Given the description of an element on the screen output the (x, y) to click on. 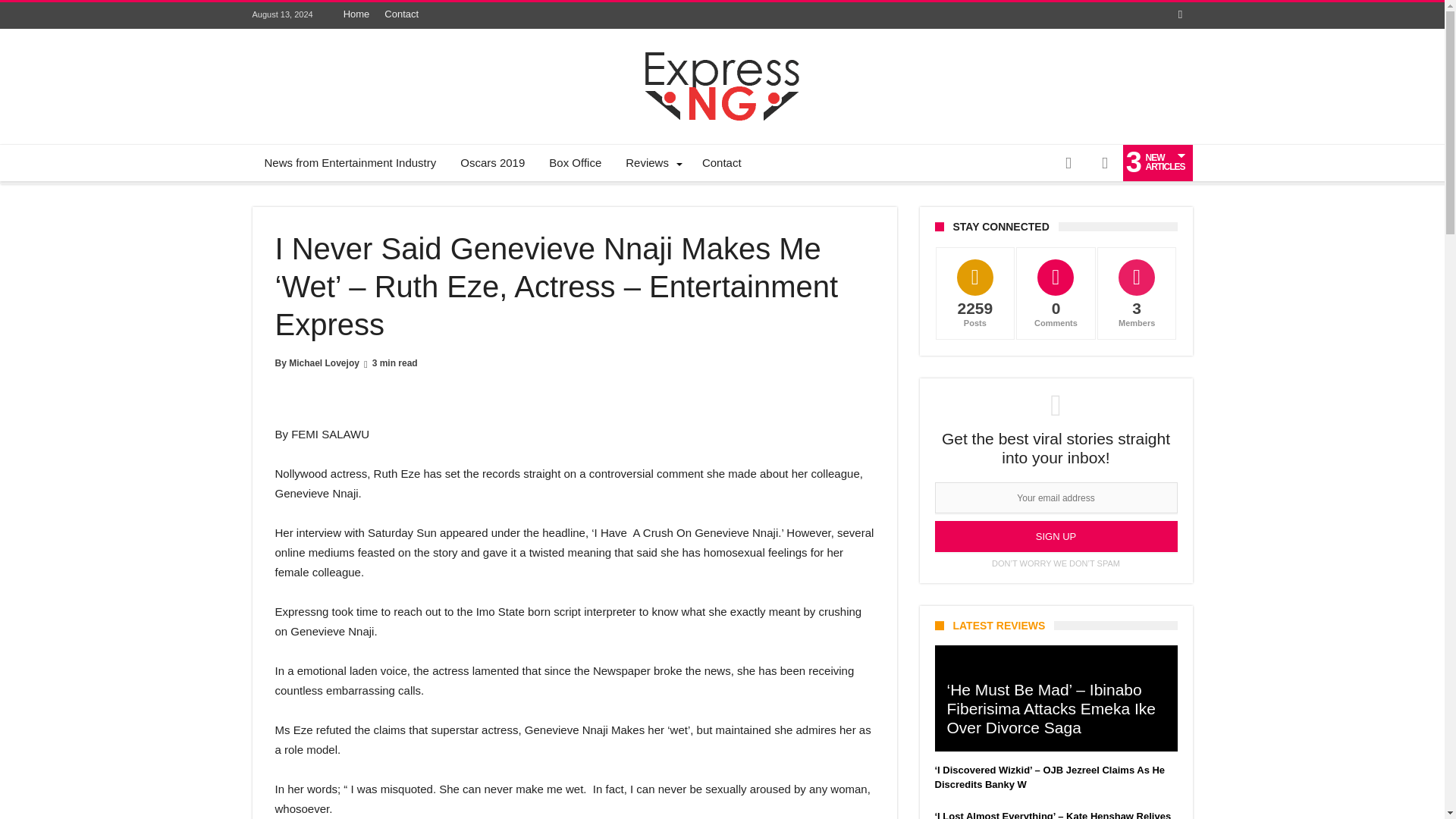
Contact (401, 14)
Box Office (574, 162)
Home (356, 14)
Reviews (651, 162)
Contact (722, 162)
Sign up (1055, 536)
Oscars 2019 (492, 162)
News from Entertainment Industry (349, 162)
Facebook (1179, 15)
Michael Lovejoy (323, 363)
